Given the description of an element on the screen output the (x, y) to click on. 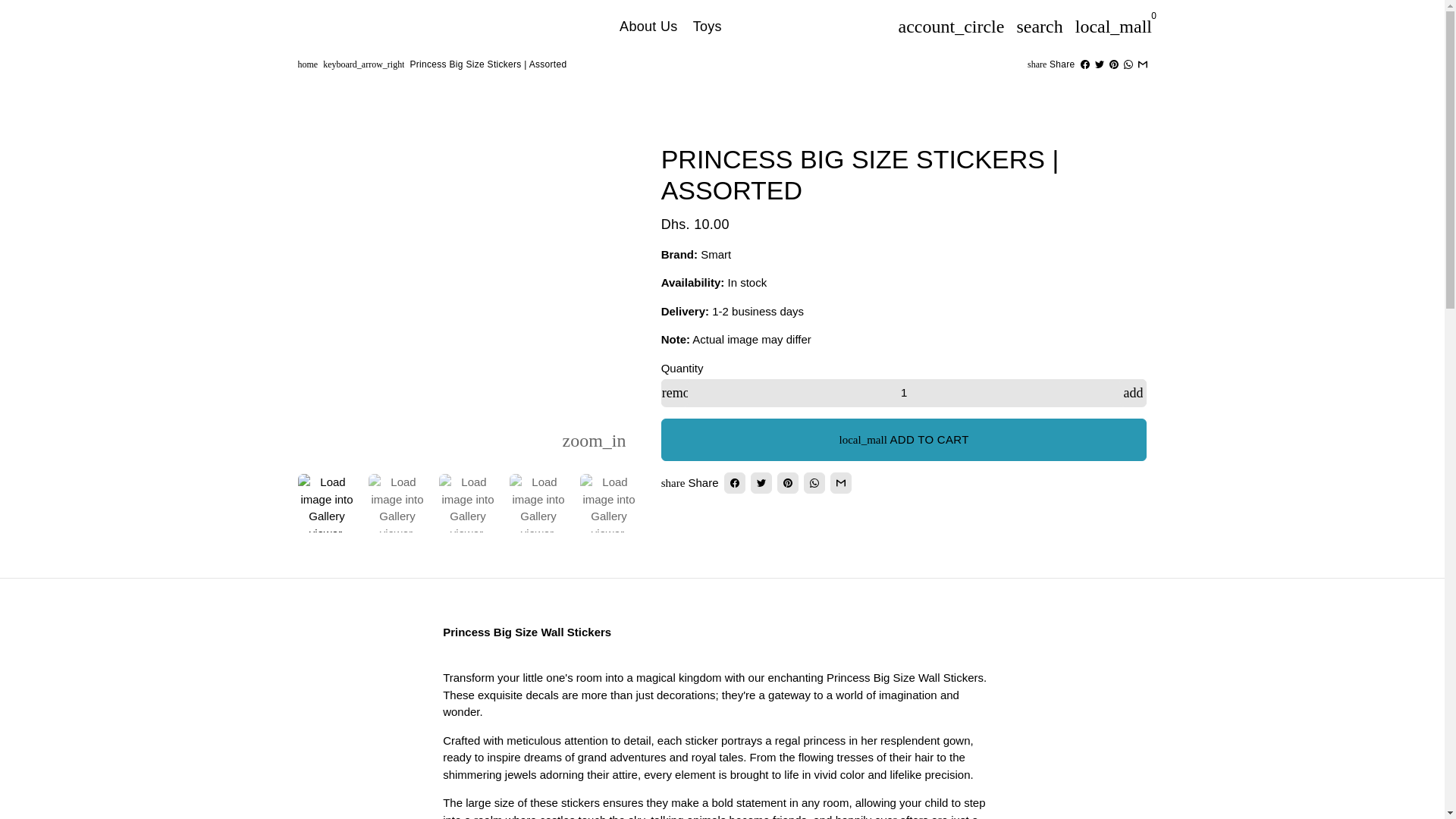
Search (1039, 25)
Toys (707, 26)
Cart (1112, 25)
1 (904, 393)
home (307, 63)
About Us (647, 26)
Reduce item quantity by one (674, 392)
search (1039, 25)
Log In (950, 25)
